Given the description of an element on the screen output the (x, y) to click on. 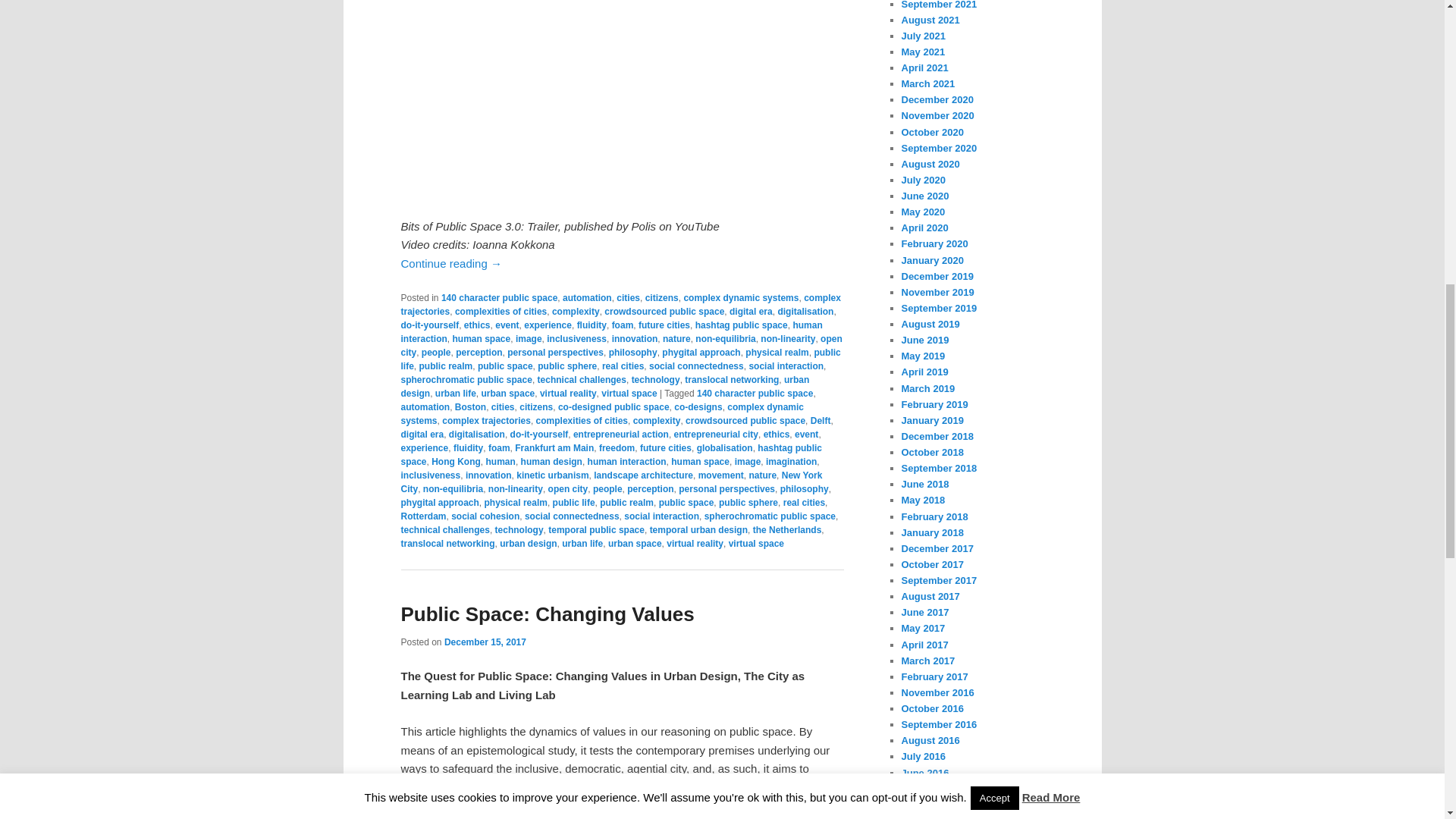
complex dynamic systems (739, 297)
cities (627, 297)
automation (586, 297)
fluidity (591, 325)
human interaction (611, 331)
nature (676, 338)
image (528, 338)
foam (622, 325)
digital era (751, 311)
non-linearity (787, 338)
